Given the description of an element on the screen output the (x, y) to click on. 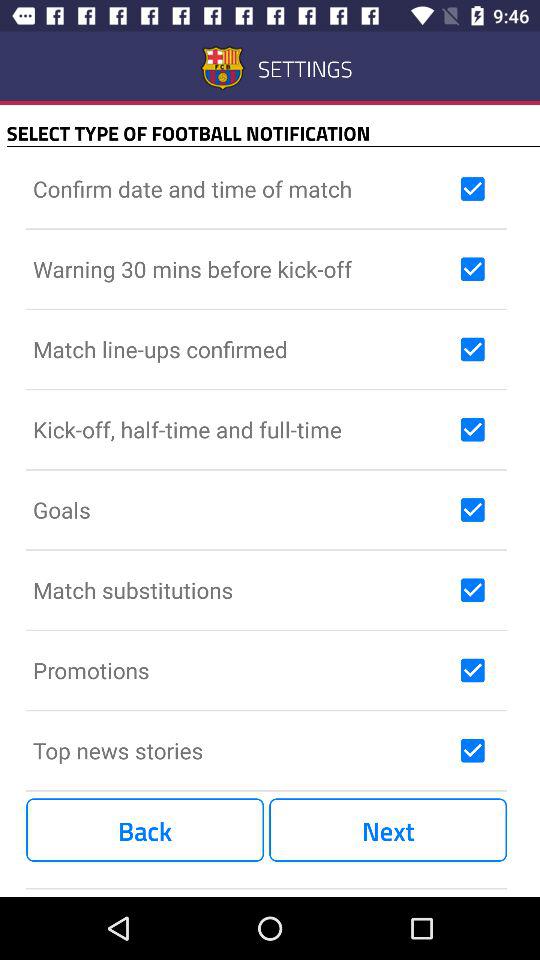
select for date and time of match notification (472, 189)
